Given the description of an element on the screen output the (x, y) to click on. 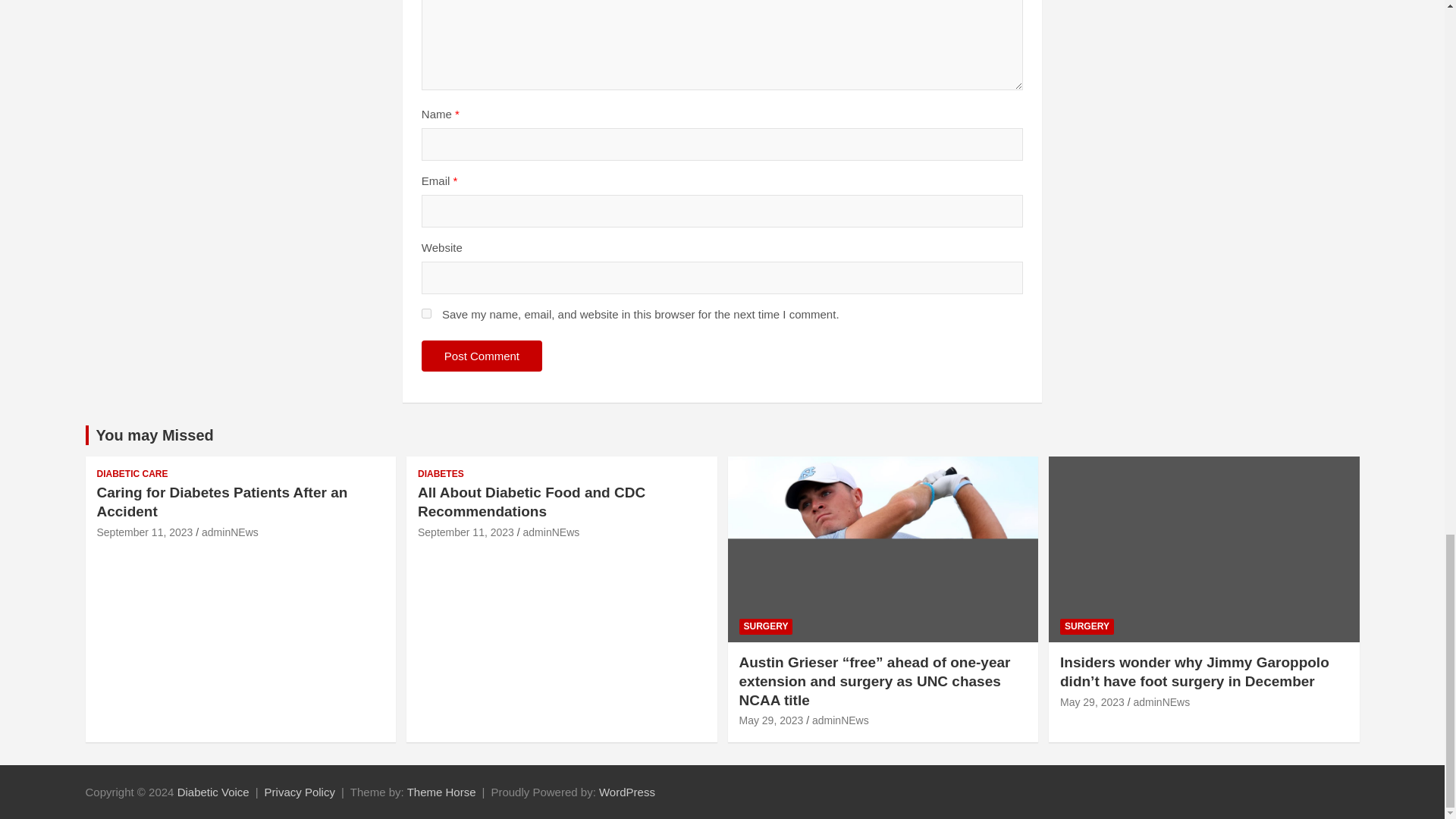
Post Comment (481, 355)
September 11, 2023 (465, 532)
All About Diabetic Food and CDC Recommendations (531, 501)
yes (426, 313)
All About Diabetic Food and CDC Recommendations (465, 532)
adminNEws (230, 532)
WordPress (626, 791)
DIABETES (440, 473)
DIABETIC CARE (132, 473)
Post Comment (481, 355)
